Given the description of an element on the screen output the (x, y) to click on. 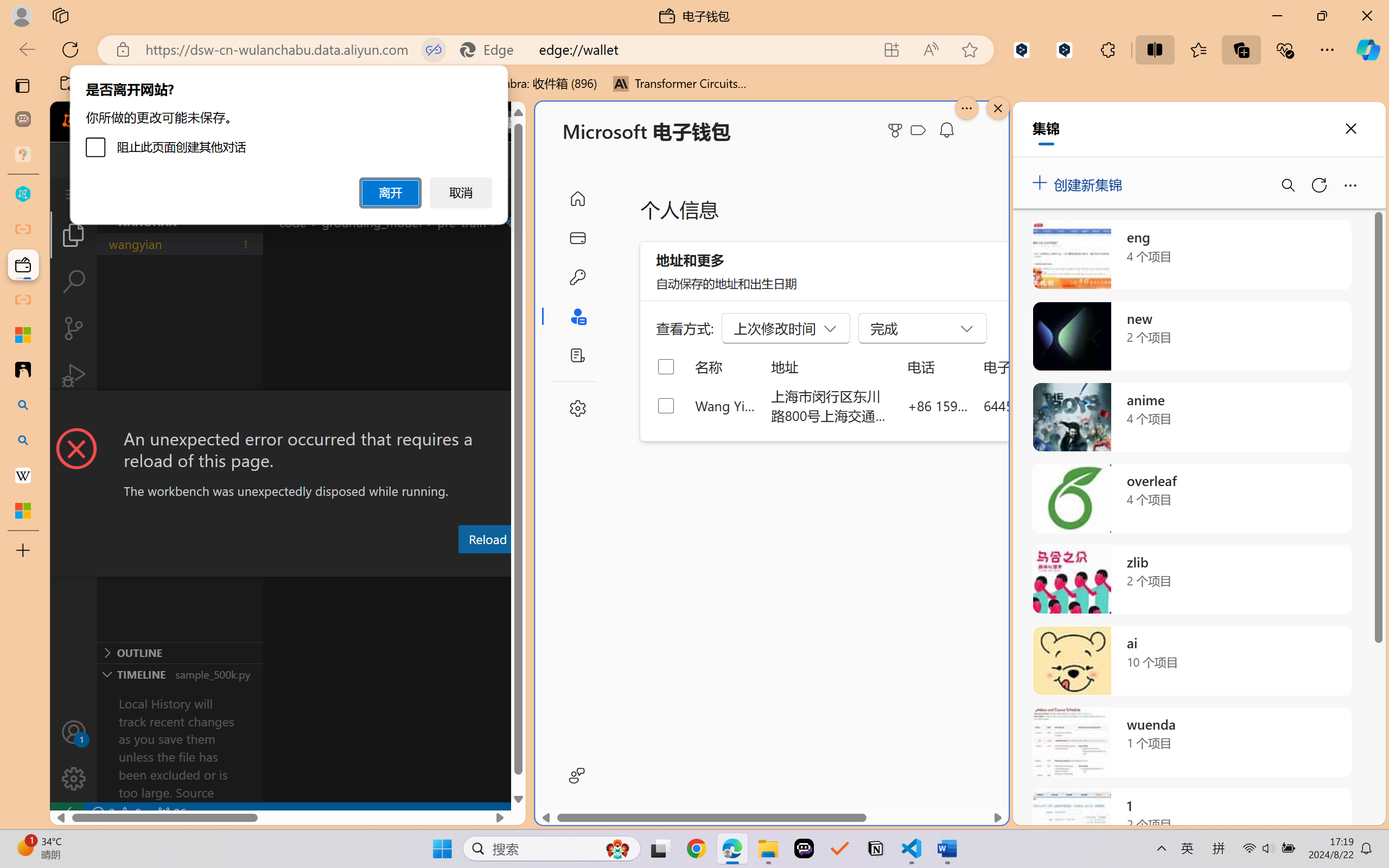
Adjust indents and spacing - Microsoft Support (22, 334)
Problems (Ctrl+Shift+M) (308, 565)
Class: ___1lmltc5 f1agt3bx f12qytpq (917, 130)
Debug Console (Ctrl+Shift+Y) (463, 565)
Reload (486, 538)
